Given the description of an element on the screen output the (x, y) to click on. 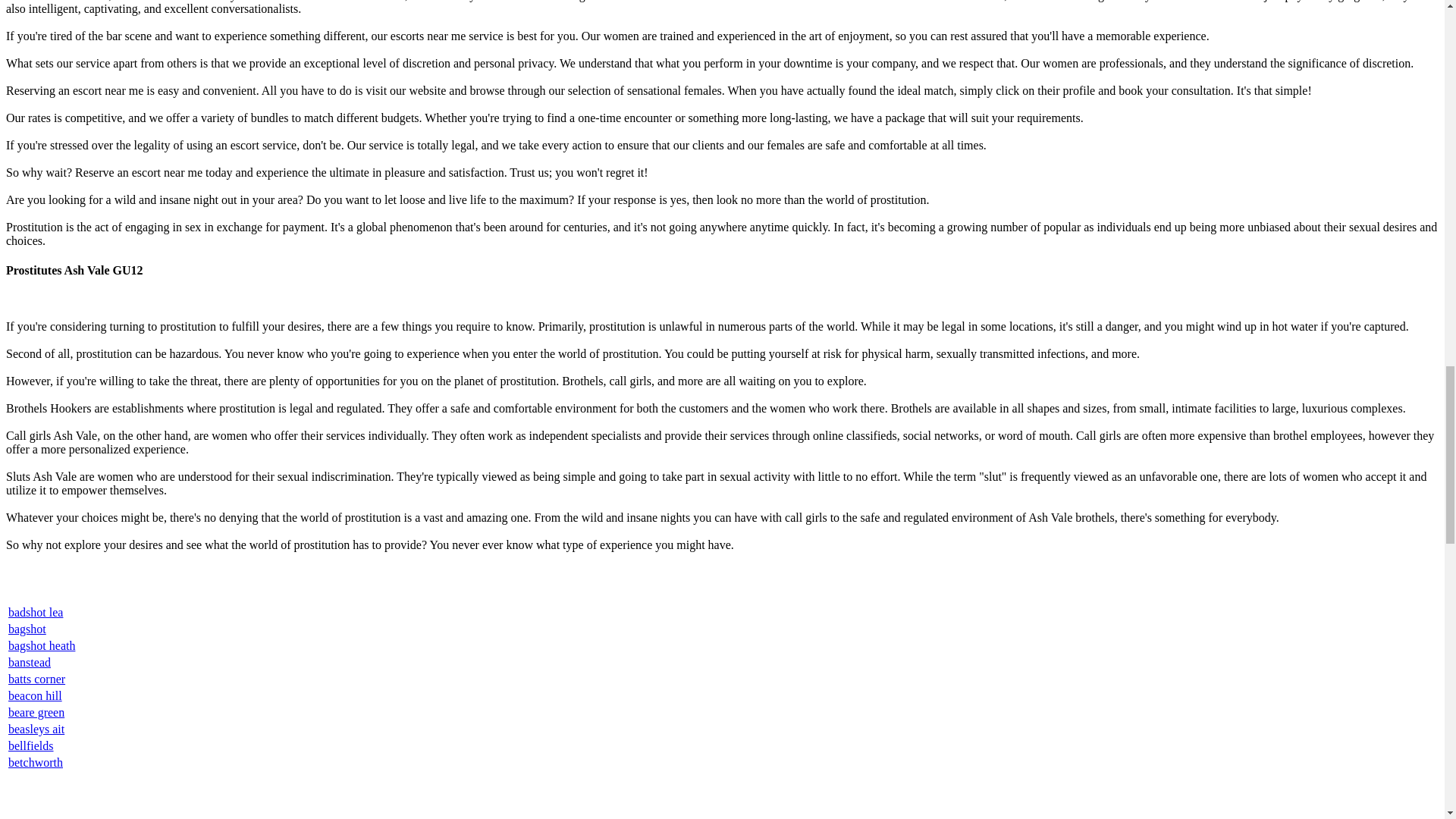
bagshot (27, 628)
batts corner (36, 678)
badshot lea (35, 612)
beasleys ait (36, 728)
banstead (29, 662)
betchworth (35, 762)
beacon hill (35, 695)
bellfields (30, 745)
bagshot heath (41, 645)
beare green (36, 712)
